Given the description of an element on the screen output the (x, y) to click on. 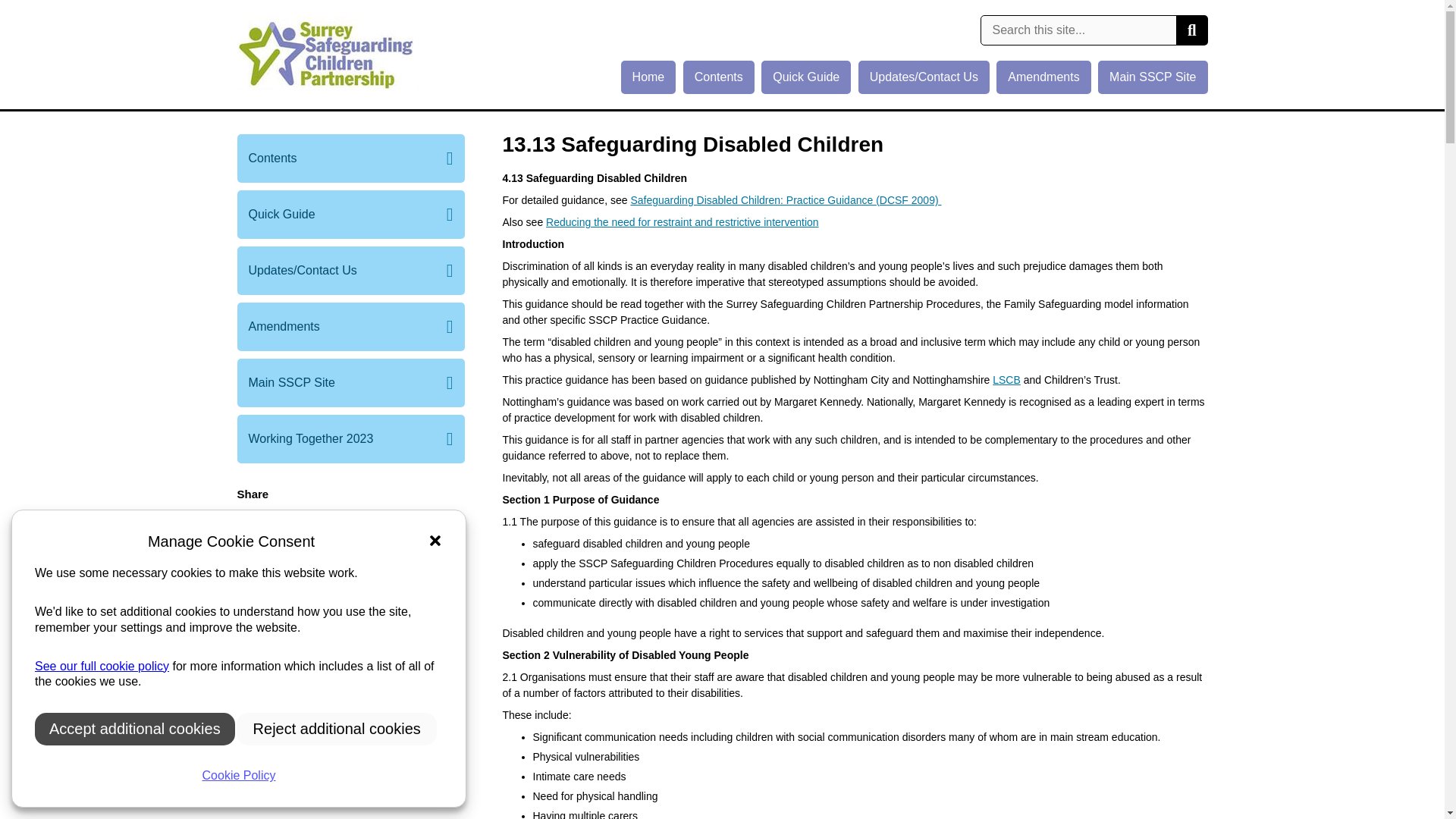
Cookie Policy (238, 775)
Working Together 2023 (349, 438)
Amendments (1042, 77)
Main SSCP Site (349, 382)
LSCB (1006, 379)
Main SSCP Site (1152, 77)
Amendments (349, 326)
Home (649, 77)
Quick Guide (805, 77)
Accept additional cookies (134, 728)
